Given the description of an element on the screen output the (x, y) to click on. 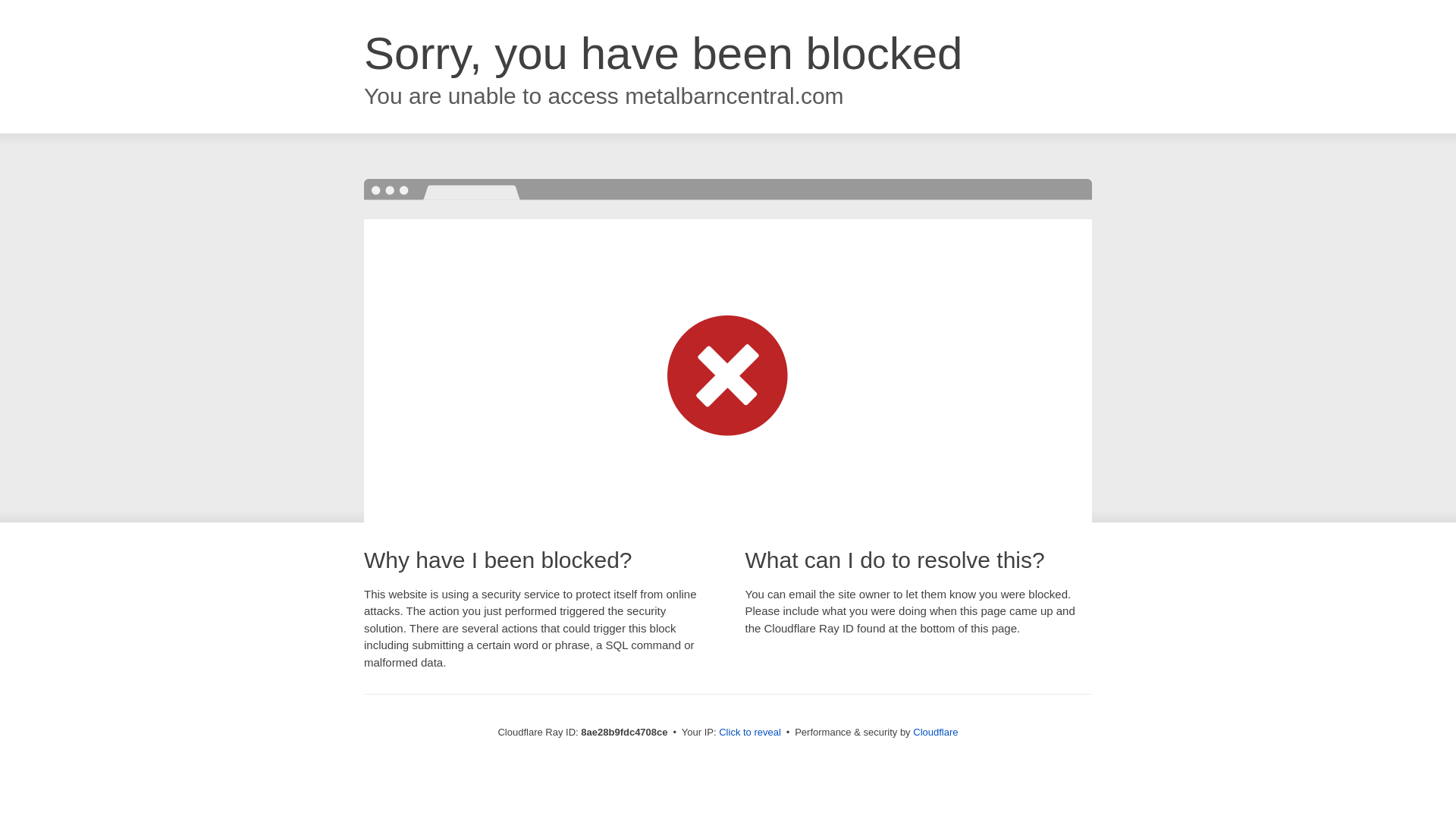
Cloudflare (935, 731)
Click to reveal (749, 732)
